Given the description of an element on the screen output the (x, y) to click on. 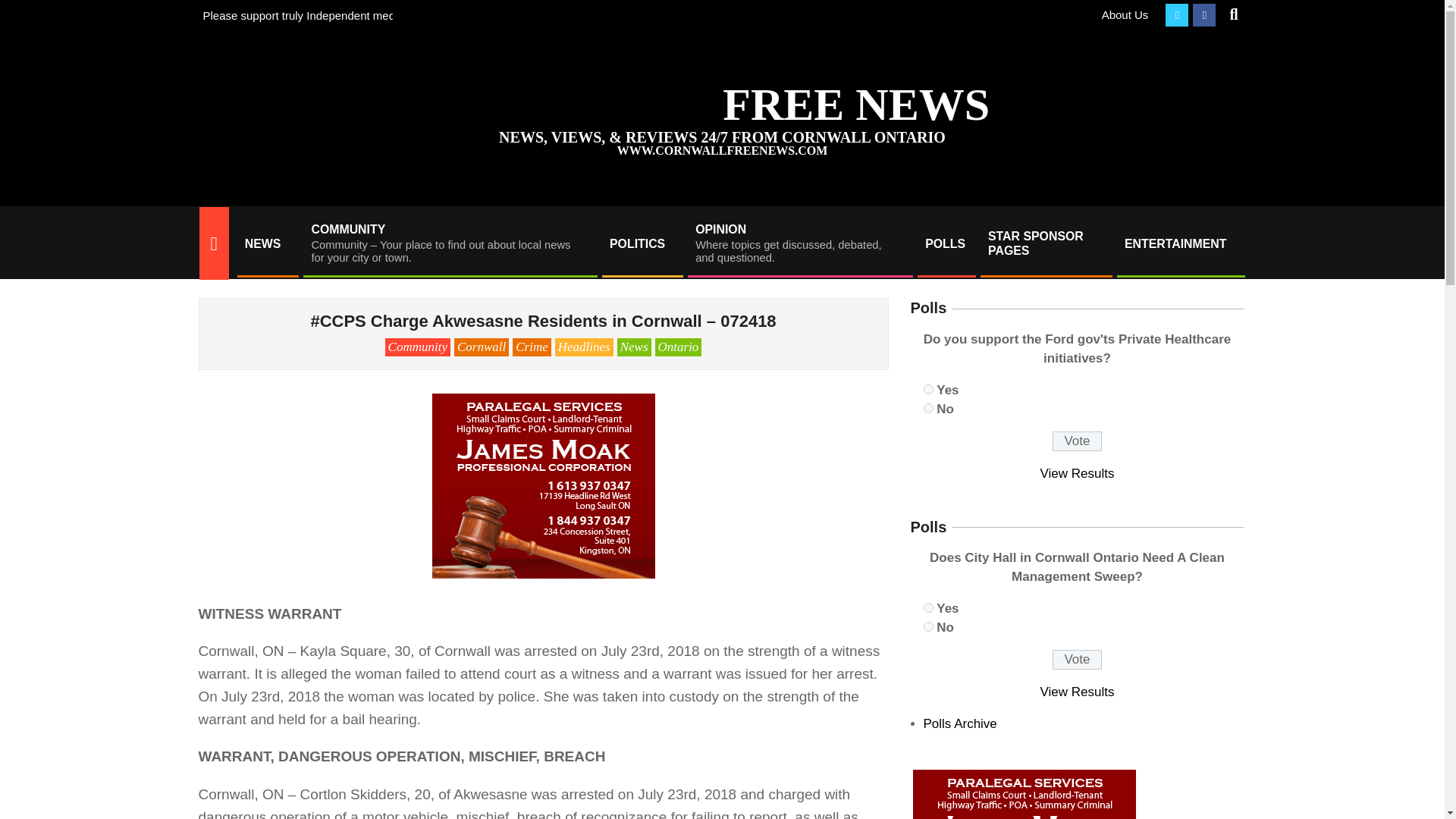
   Vote    (1076, 441)
1770 (928, 607)
NEWS (265, 243)
1771 (928, 626)
View Results Of This Poll (1078, 473)
ENTERTAINMENT (1179, 243)
POLLS (945, 243)
About Us (1125, 14)
POLITICS (799, 243)
1776 (641, 243)
Search (928, 388)
STAR SPONSOR PAGES (24, 9)
View Results Of This Poll (1044, 243)
   Vote    (1078, 691)
